Given the description of an element on the screen output the (x, y) to click on. 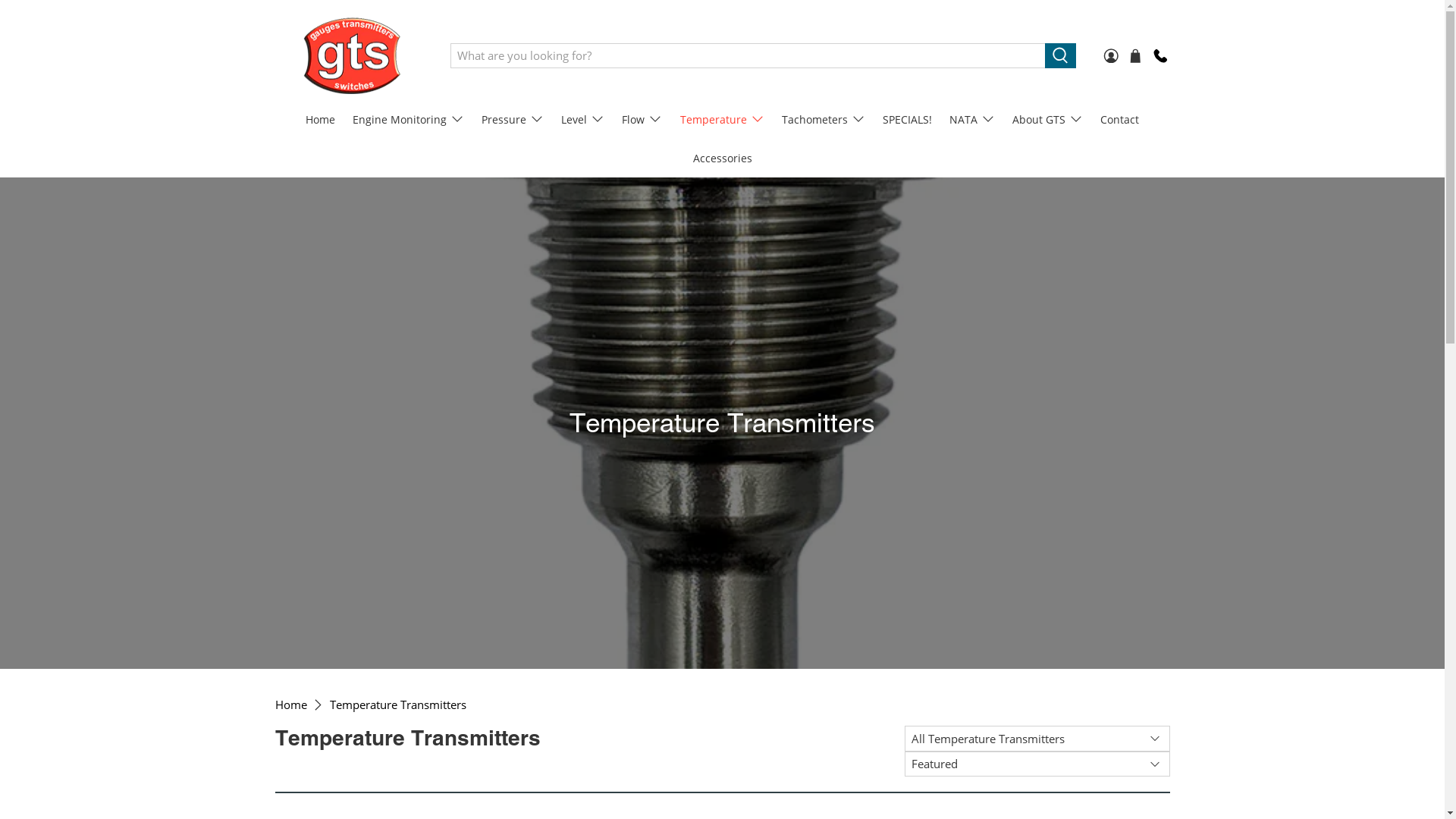
SPECIALS! Element type: text (907, 119)
Home Element type: text (290, 704)
Flow Element type: text (642, 119)
Temperature Element type: text (721, 119)
Level Element type: text (582, 119)
Tachometers Element type: text (823, 119)
NATA Element type: text (971, 119)
Pressure Element type: text (512, 119)
About GTS Element type: text (1048, 119)
GTS Gauges Element type: hover (351, 55)
Temperature Transmitters Element type: text (397, 704)
Home Element type: text (320, 119)
Contact Element type: text (1120, 119)
Engine Monitoring Element type: text (407, 119)
Accessories Element type: text (722, 157)
